Given the description of an element on the screen output the (x, y) to click on. 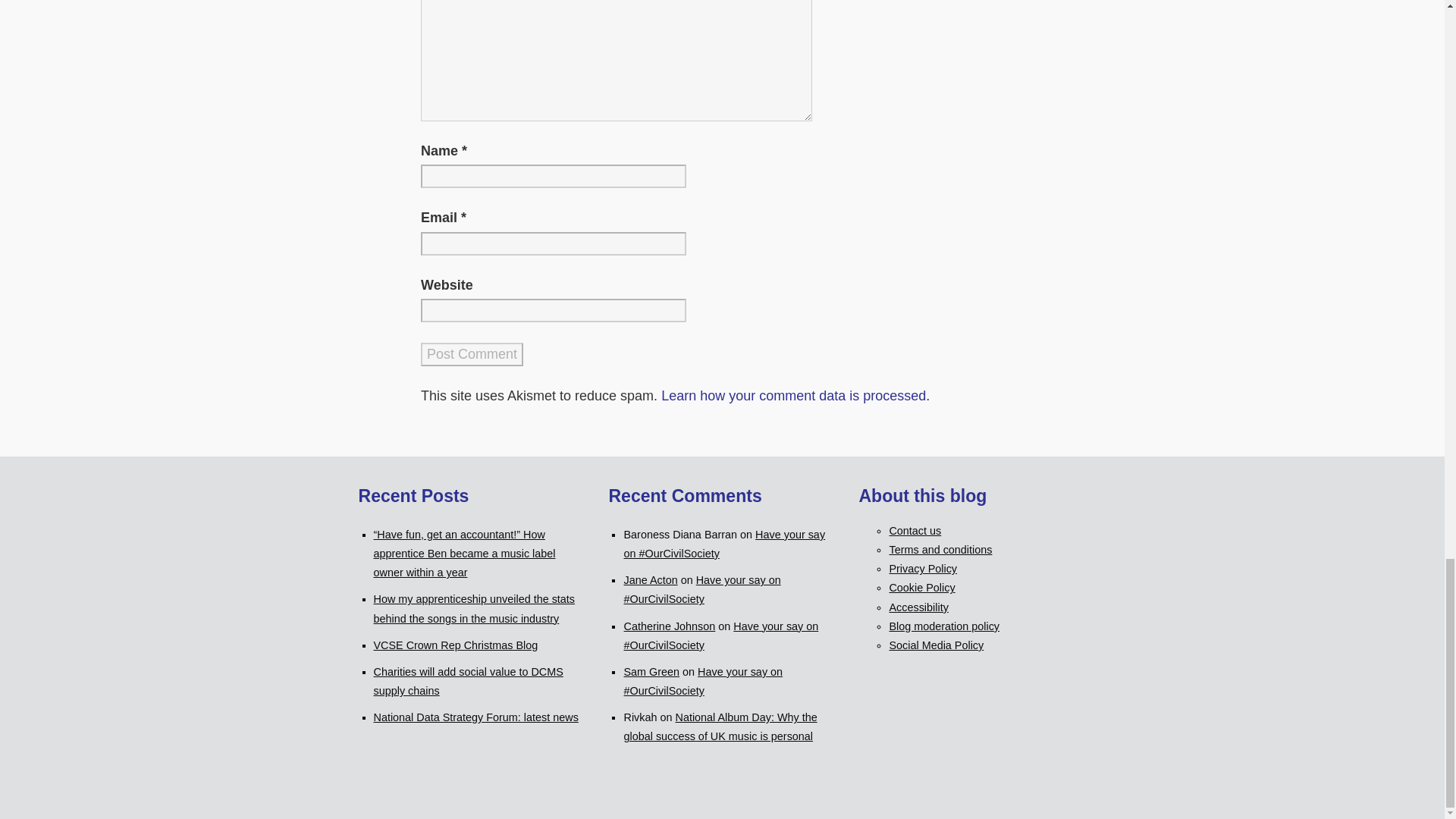
Terms and conditions (939, 549)
Post Comment (471, 354)
Charities will add social value to DCMS supply chains (467, 680)
Sam Green (651, 671)
Jane Acton (650, 580)
Contact us (914, 530)
Learn how your comment data is processed (793, 395)
National Data Strategy Forum: latest news (475, 717)
Post Comment (471, 354)
Catherine Johnson (668, 625)
VCSE Crown Rep Christmas Blog (454, 645)
